Given the description of an element on the screen output the (x, y) to click on. 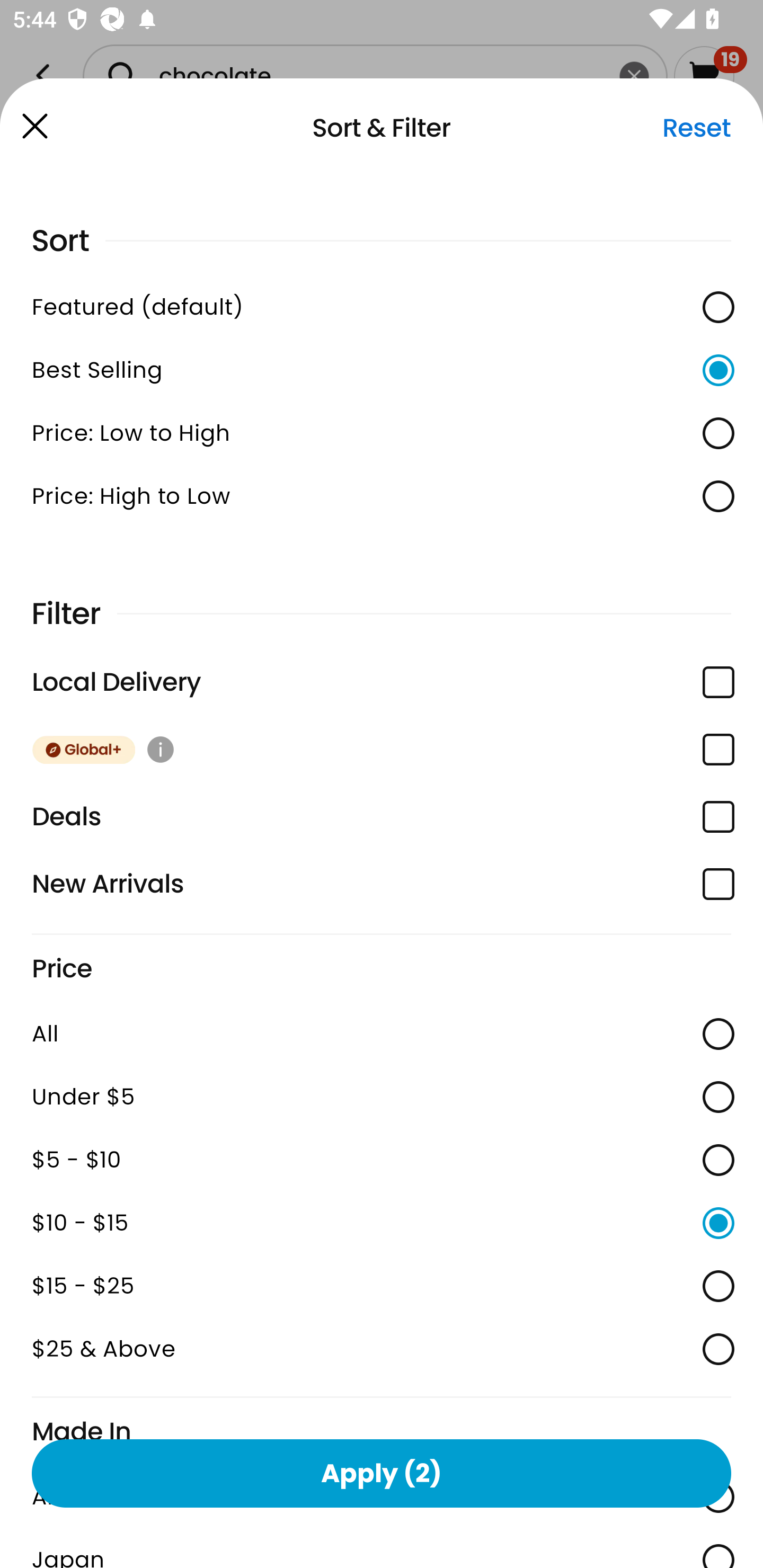
Reset (696, 127)
Apply (2) (381, 1472)
